Given the description of an element on the screen output the (x, y) to click on. 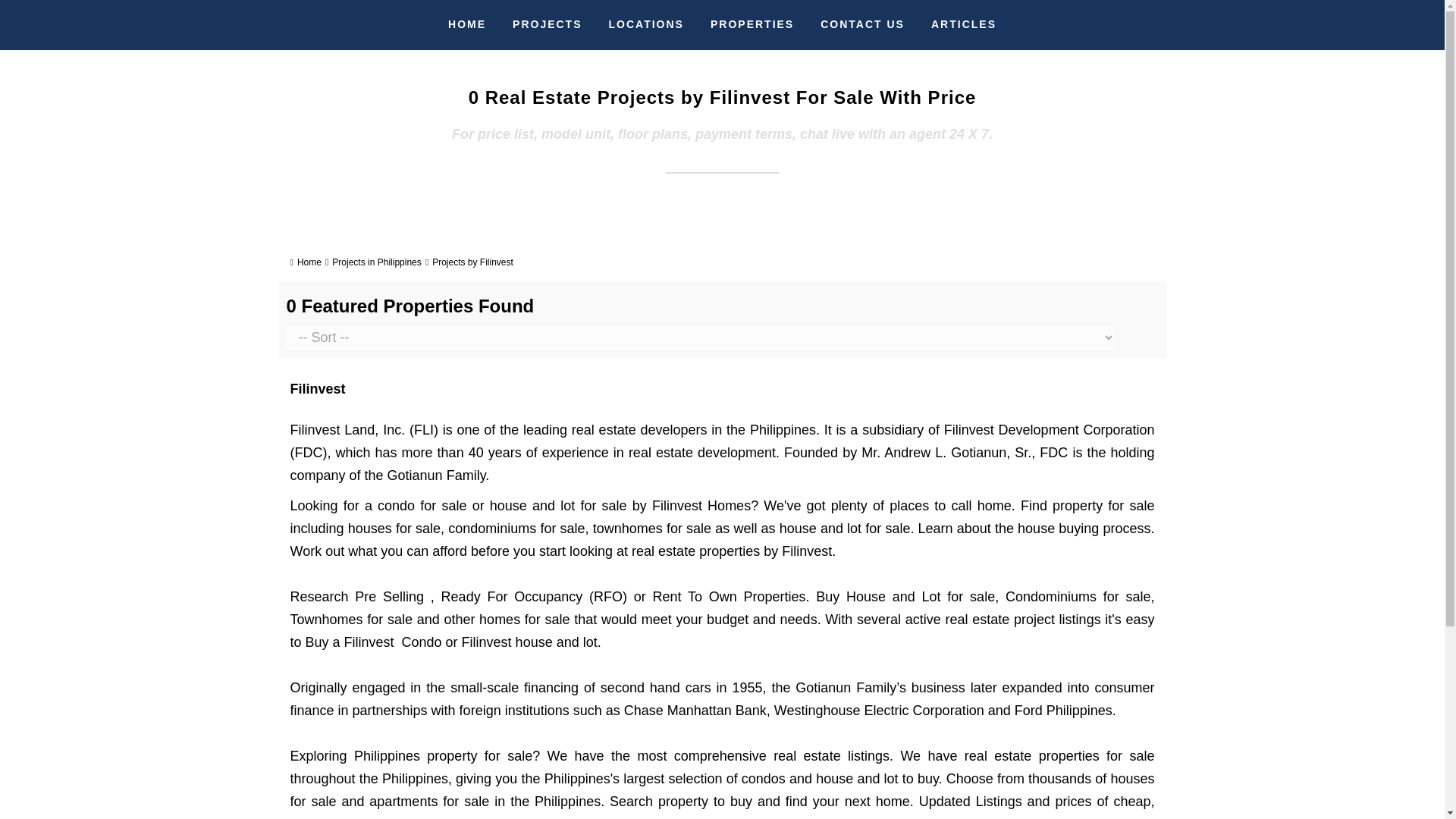
HOME (466, 24)
LOCATIONS (645, 24)
PROJECTS (546, 24)
PROPERTIES (751, 24)
ARTICLES (963, 24)
CONTACT US (862, 24)
LOCATIONS (645, 24)
PROPERTIES (751, 24)
PROJECTS (546, 24)
HOME (466, 24)
